Given the description of an element on the screen output the (x, y) to click on. 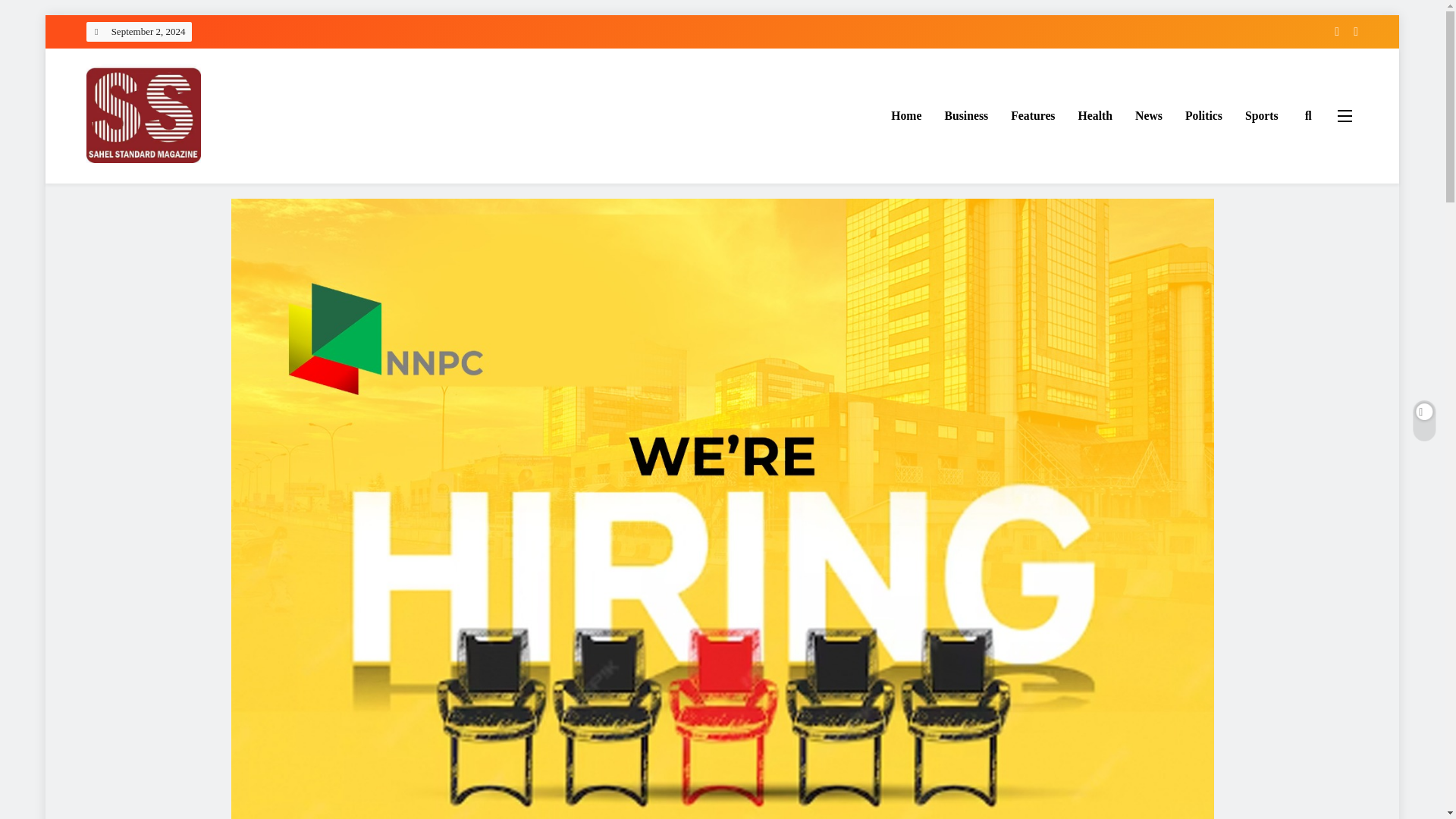
Sports (1261, 115)
Business (965, 115)
Features (1031, 115)
Sahel Standard (162, 184)
Politics (1203, 115)
News (1148, 115)
Home (906, 115)
Health (1095, 115)
